Given the description of an element on the screen output the (x, y) to click on. 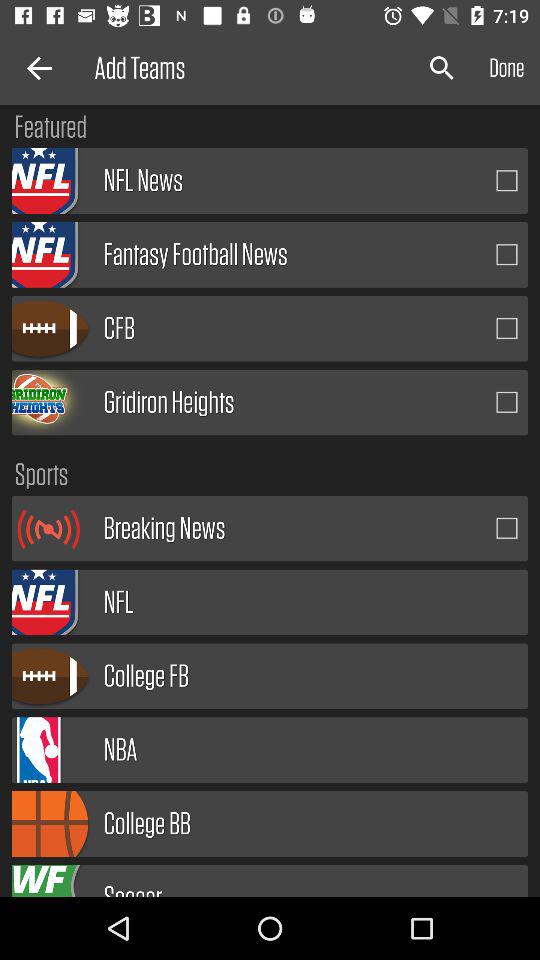
scroll until done (506, 67)
